Given the description of an element on the screen output the (x, y) to click on. 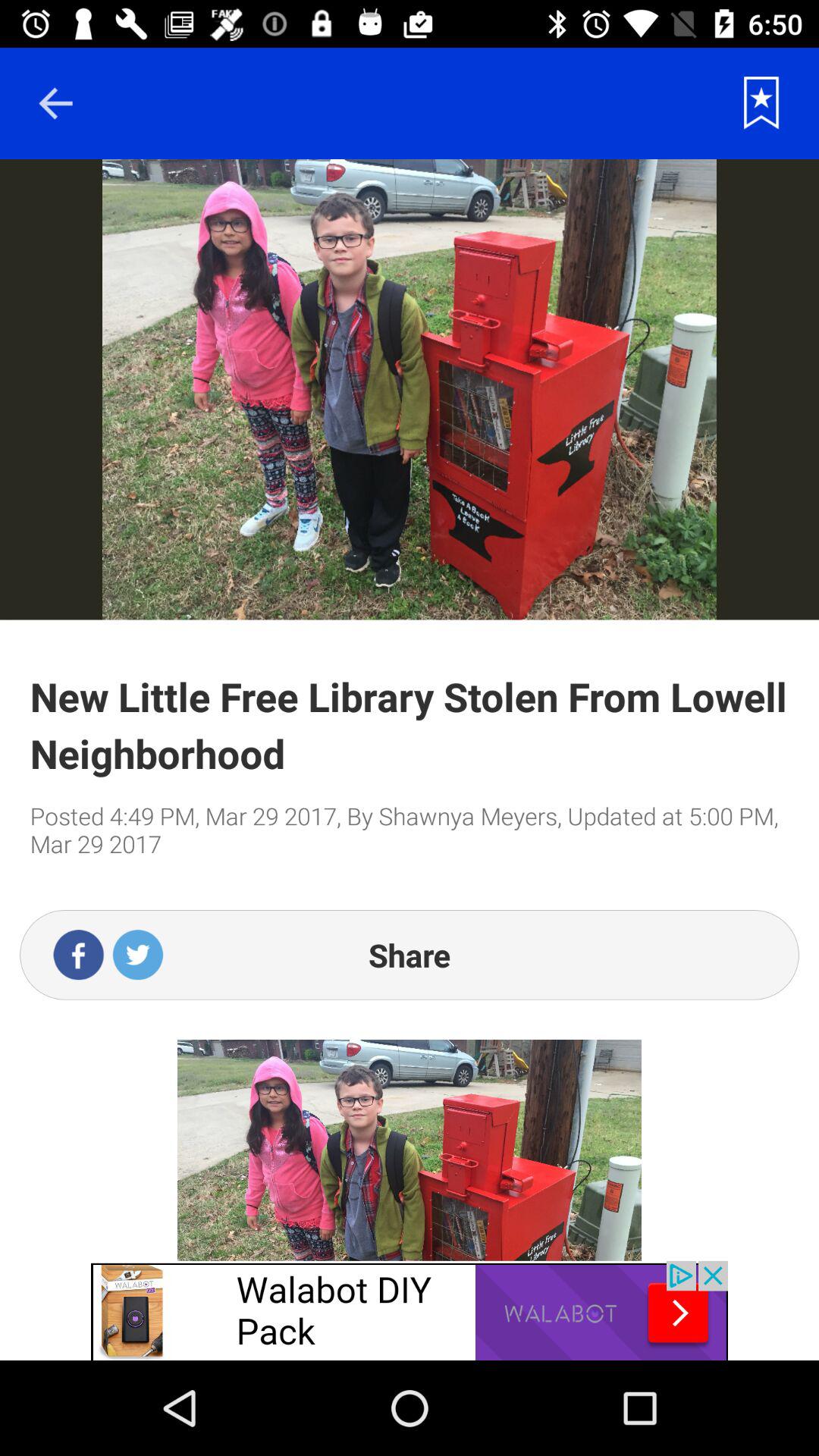
to save the page (761, 102)
